Given the description of an element on the screen output the (x, y) to click on. 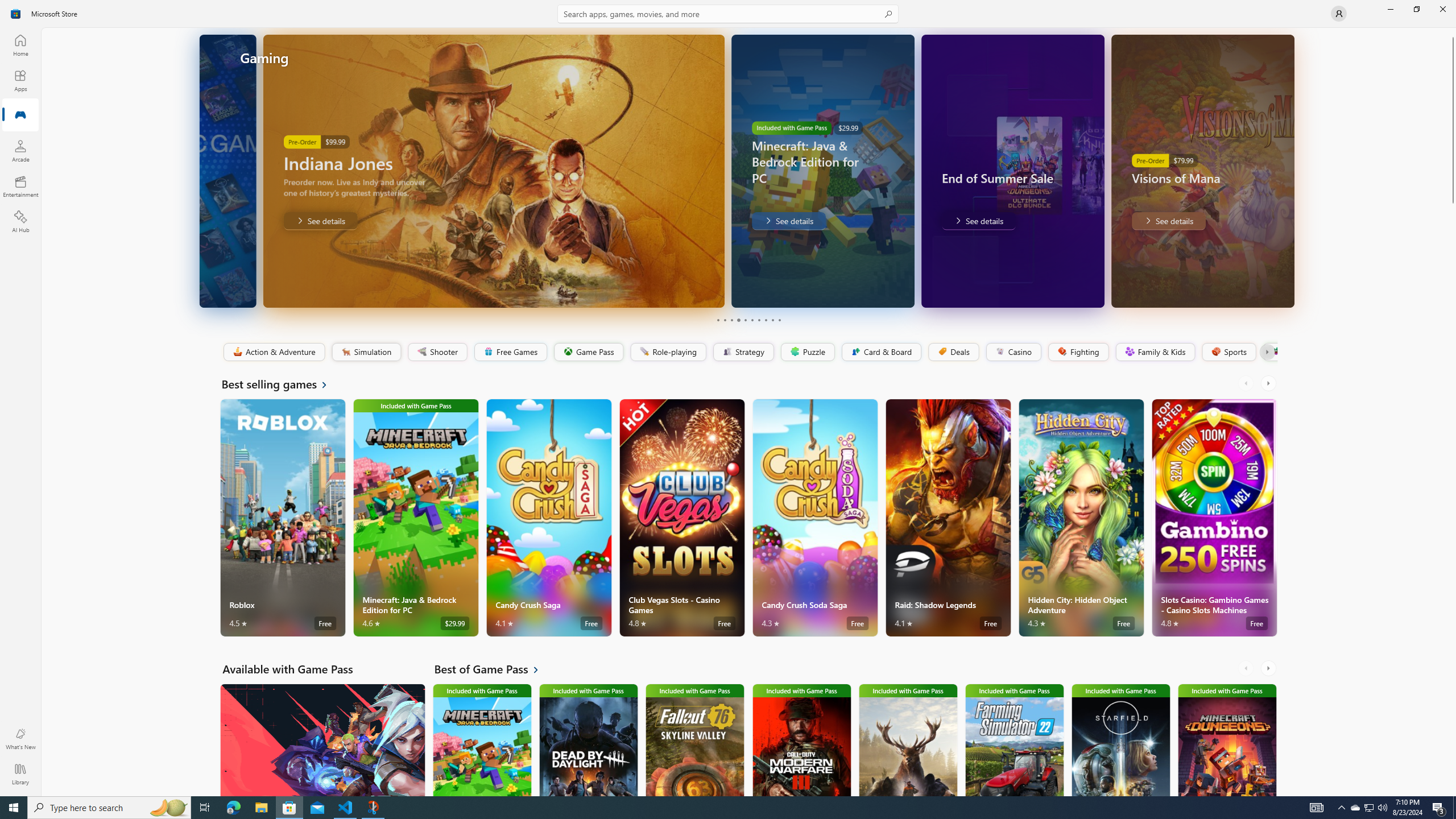
See all  Best selling games (280, 383)
Home (20, 45)
Search (727, 13)
Strategy (742, 352)
Card & Board (880, 352)
Minimize Microsoft Store (1390, 9)
AutomationID: LeftScrollButton (1246, 668)
What's New (20, 738)
Game Pass (588, 352)
Library (20, 773)
